Given the description of an element on the screen output the (x, y) to click on. 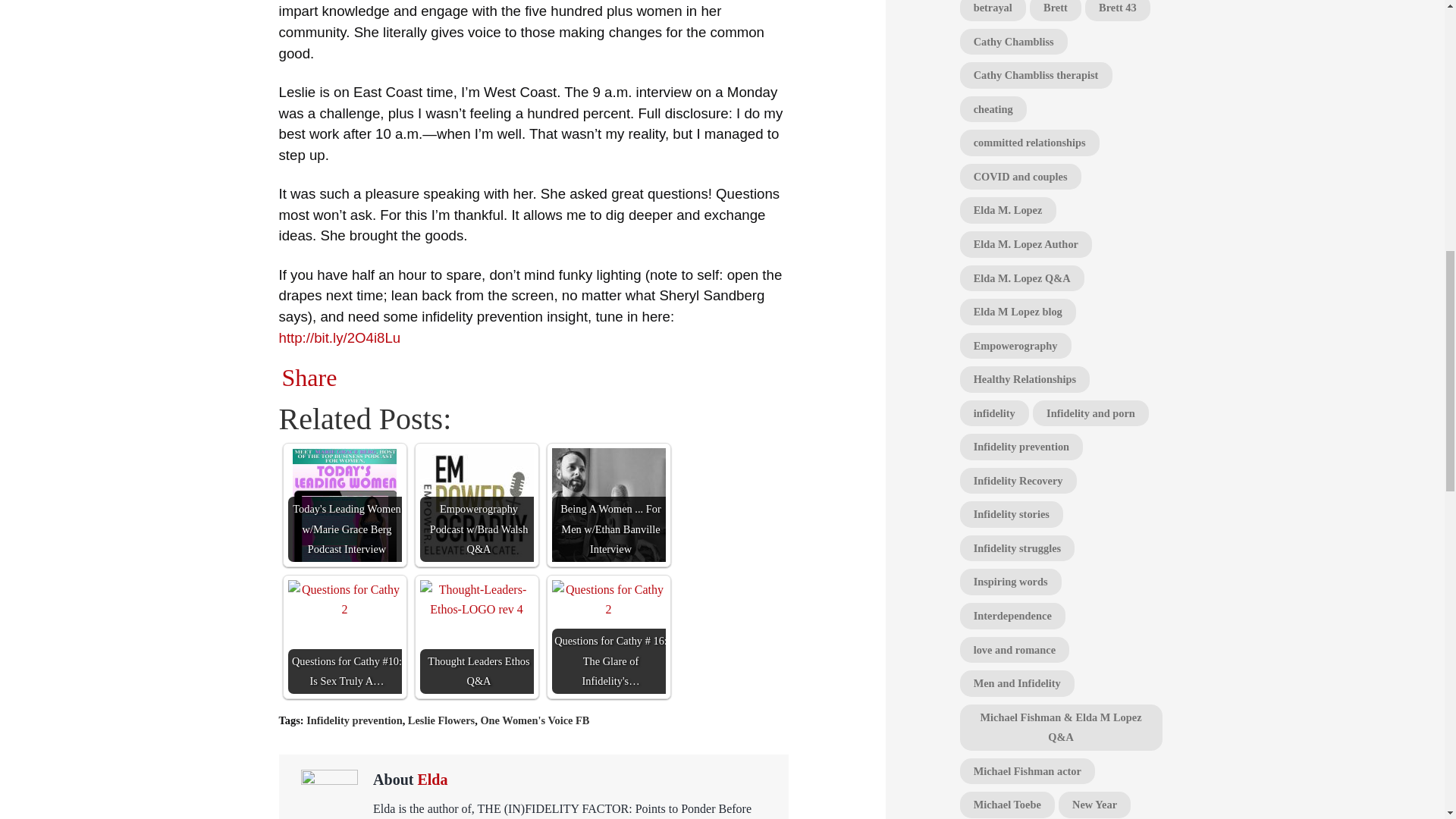
Infidelity prevention (353, 720)
Share (309, 377)
Leslie Flowers (440, 720)
